Given the description of an element on the screen output the (x, y) to click on. 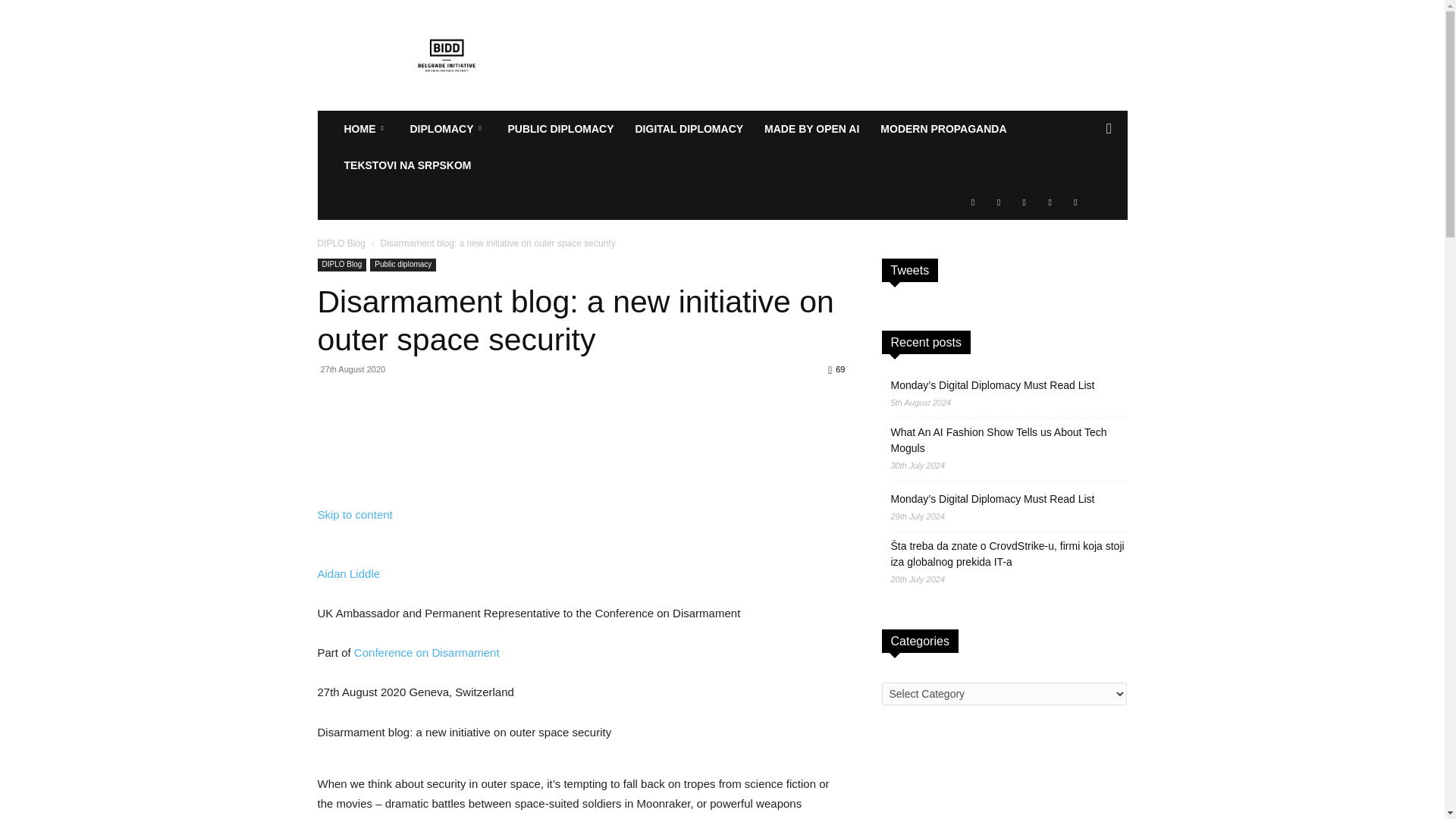
MODERN PROPAGANDA (942, 128)
DIPLOMACY (447, 128)
DIGITAL DIPLOMACY (689, 128)
PUBLIC DIPLOMACY (560, 128)
View all posts in DIPLO Blog (341, 243)
TEKSTOVI NA SRPSKOM (407, 165)
MADE BY OPEN AI (811, 128)
HOME (365, 128)
